Given the description of an element on the screen output the (x, y) to click on. 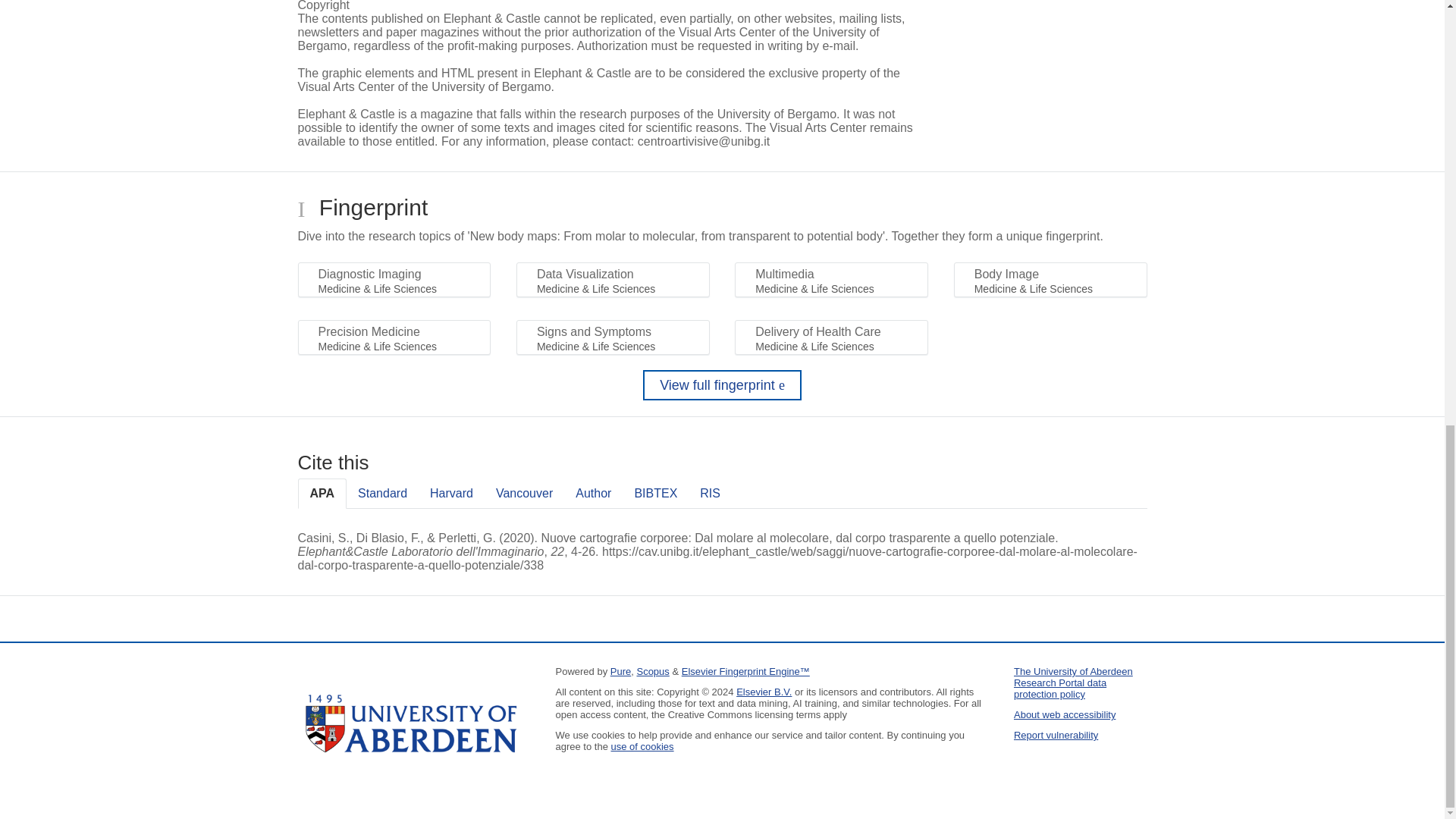
Pure (620, 671)
Elsevier B.V. (764, 691)
View full fingerprint (722, 385)
use of cookies (642, 746)
Scopus (652, 671)
